Given the description of an element on the screen output the (x, y) to click on. 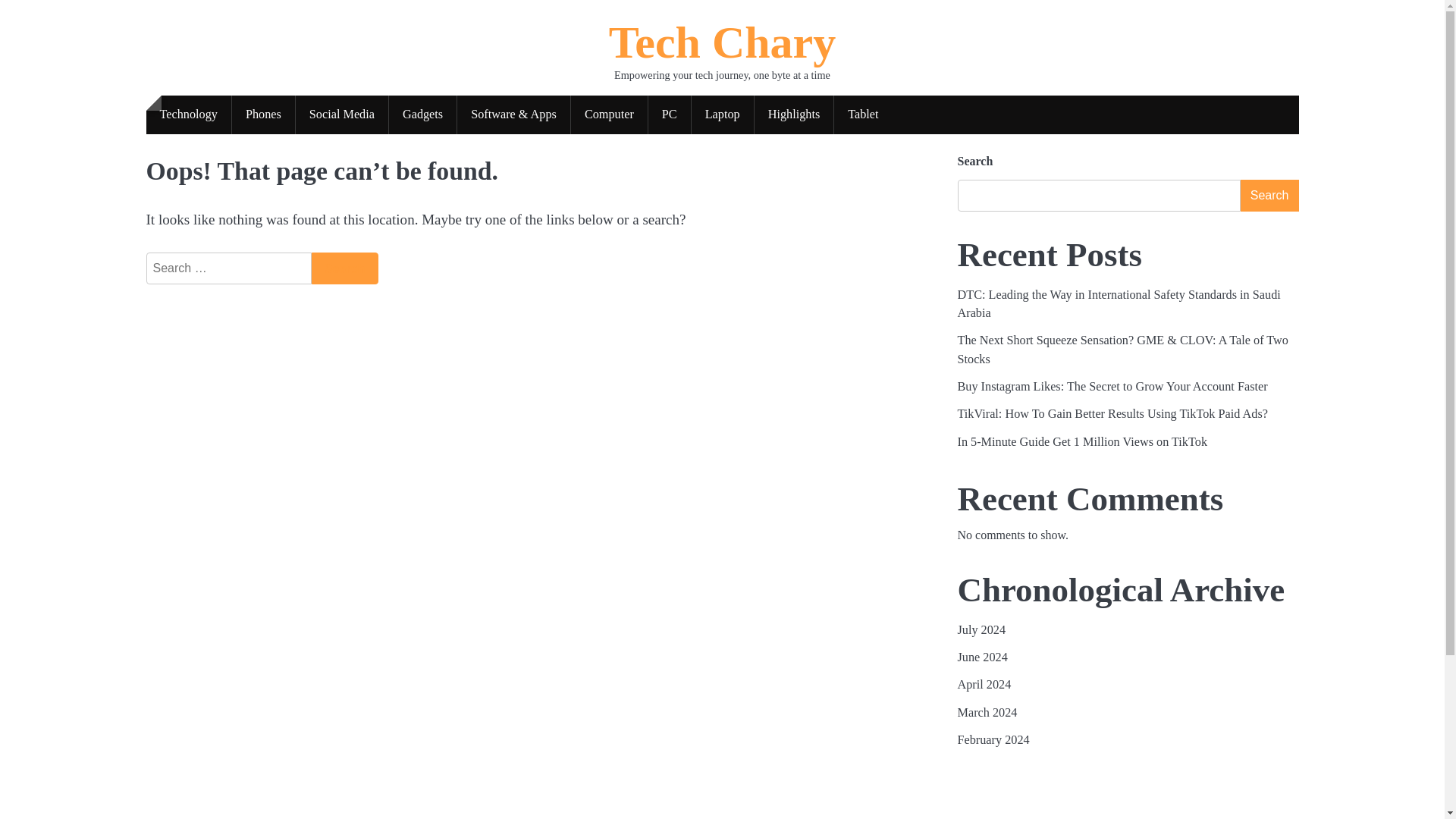
March 2024 (986, 712)
Search (344, 268)
Search (344, 268)
Buy Instagram Likes: The Secret to Grow Your Account Faster (1111, 386)
PC (668, 114)
Technology (187, 114)
Highlights (794, 114)
Search (1269, 195)
Search (344, 268)
Laptop (722, 114)
Phones (263, 114)
Tablet (862, 114)
July 2024 (981, 630)
April 2024 (983, 684)
